Given the description of an element on the screen output the (x, y) to click on. 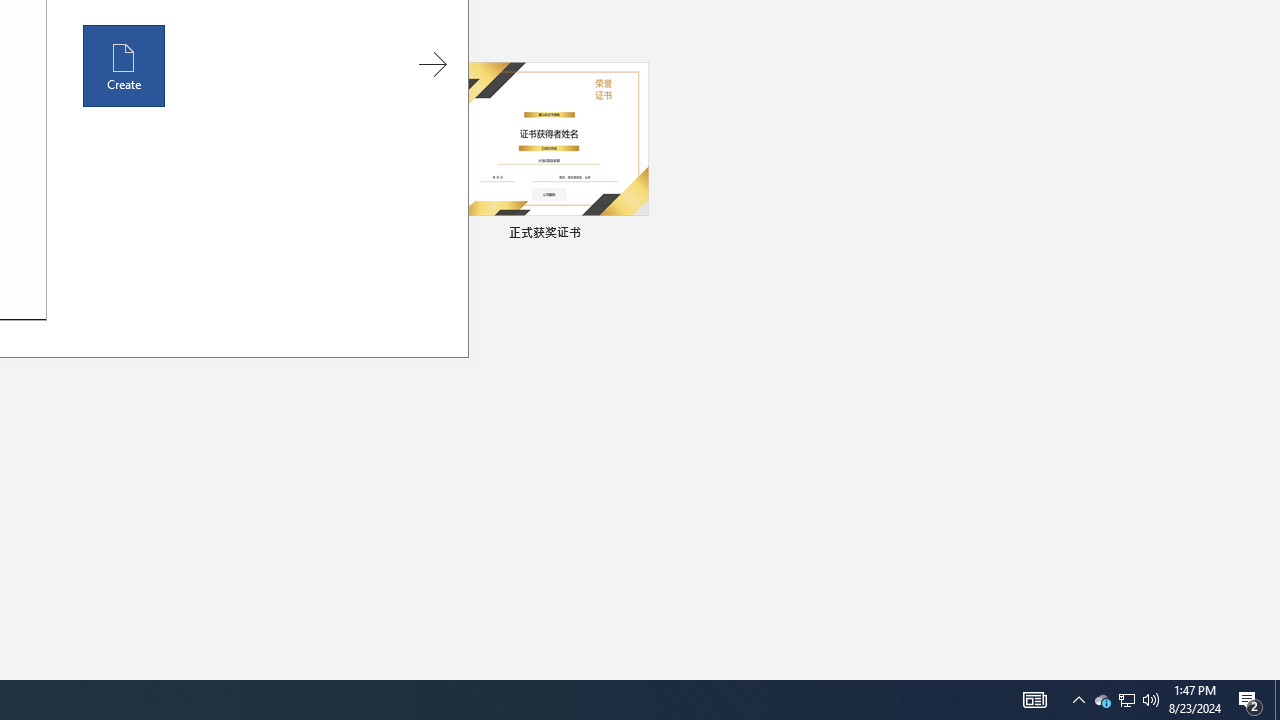
Create (124, 66)
Next Template (432, 64)
Pin to list (635, 234)
